Given the description of an element on the screen output the (x, y) to click on. 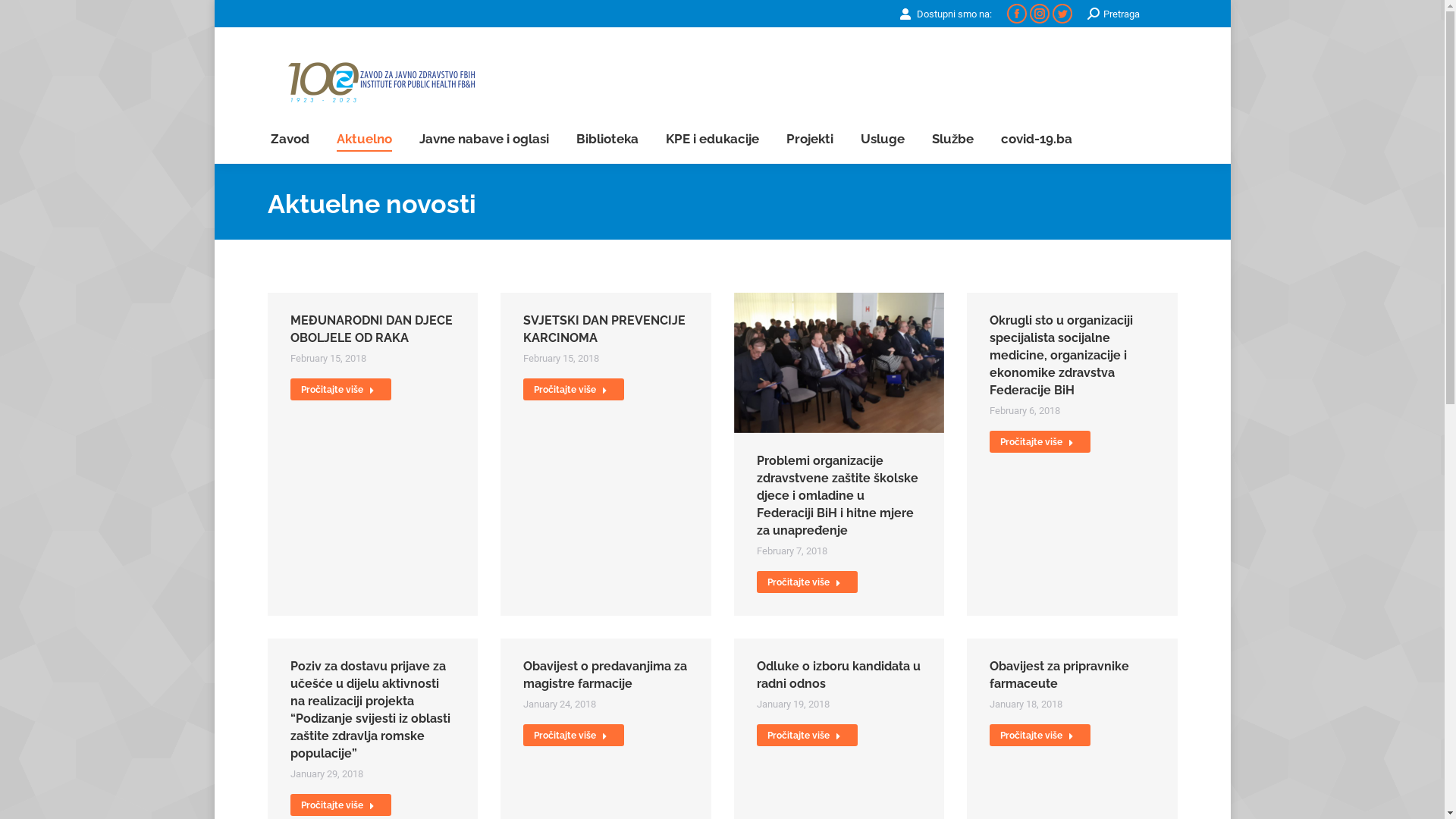
Facebook page opens in new window Element type: text (1016, 13)
20180207_233208 Element type: hover (839, 362)
Pretraga Element type: text (1113, 13)
covid-19.ba Element type: text (1036, 139)
SVJETSKI DAN PREVENCIJE KARCINOMA Element type: text (604, 329)
January 24, 2018 Element type: text (559, 703)
February 6, 2018 Element type: text (1024, 410)
Aktuelno Element type: text (364, 139)
Odluke o izboru kandidata u radni odnos Element type: text (838, 674)
Twitter page opens in new window Element type: text (1062, 13)
January 29, 2018 Element type: text (325, 773)
Biblioteka Element type: text (607, 139)
February 15, 2018 Element type: text (327, 358)
January 18, 2018 Element type: text (1025, 703)
Javne nabave i oglasi Element type: text (483, 139)
February 7, 2018 Element type: text (791, 550)
Instagram page opens in new window Element type: text (1039, 13)
February 15, 2018 Element type: text (561, 358)
Go! Element type: text (23, 16)
Obavijest za pripravnike farmaceute Element type: text (1059, 674)
Projekti Element type: text (808, 139)
Usluge Element type: text (881, 139)
Zavod Element type: text (288, 139)
KPE i edukacije Element type: text (712, 139)
January 19, 2018 Element type: text (792, 703)
Obavijest o predavanjima za magistre farmacije Element type: text (605, 674)
